Given the description of an element on the screen output the (x, y) to click on. 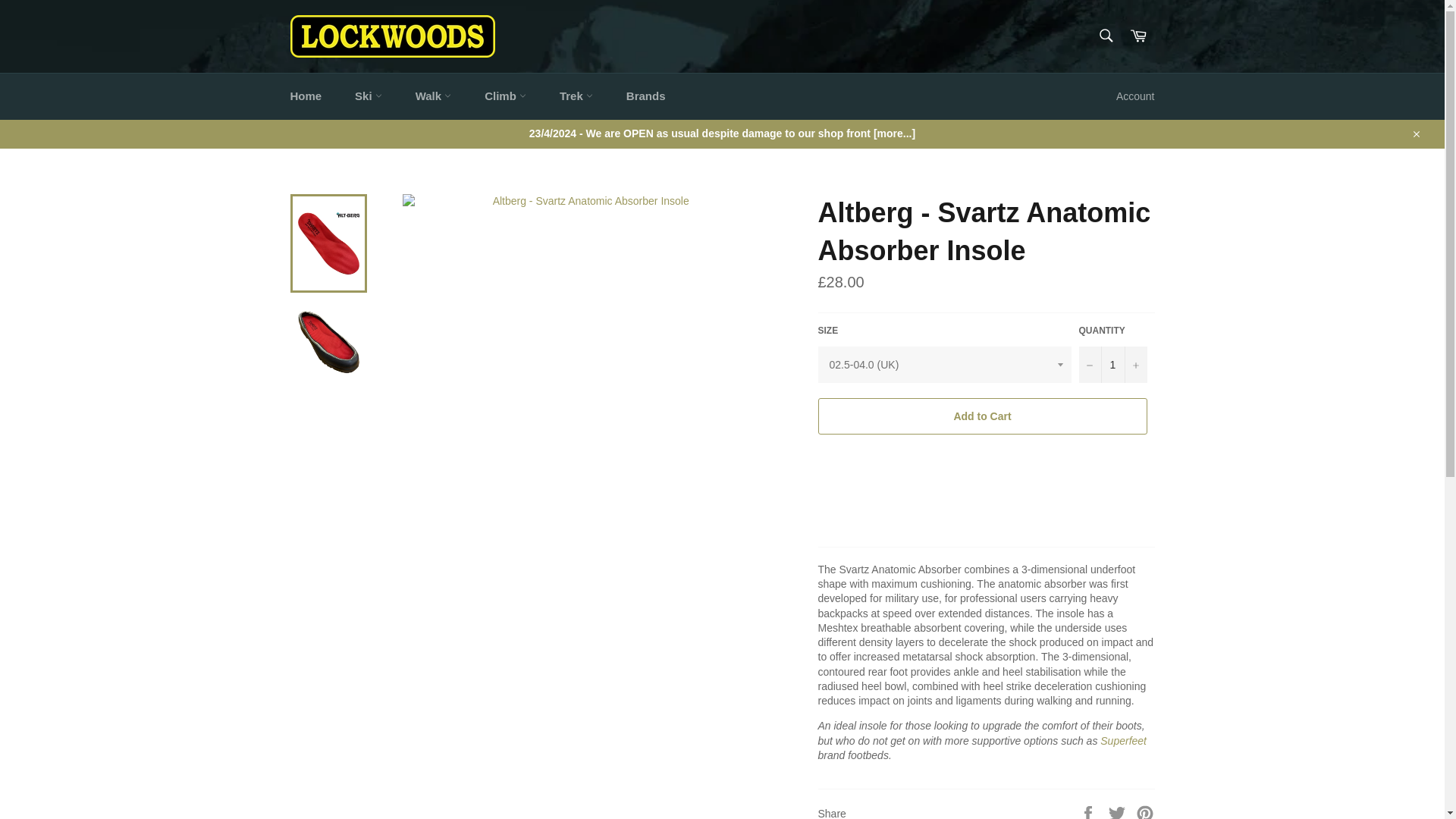
Tweet on Twitter (1118, 812)
Pin on Pinterest (1144, 812)
Superfeet insoles (1123, 740)
1 (1112, 364)
Share on Facebook (1089, 812)
